Given the description of an element on the screen output the (x, y) to click on. 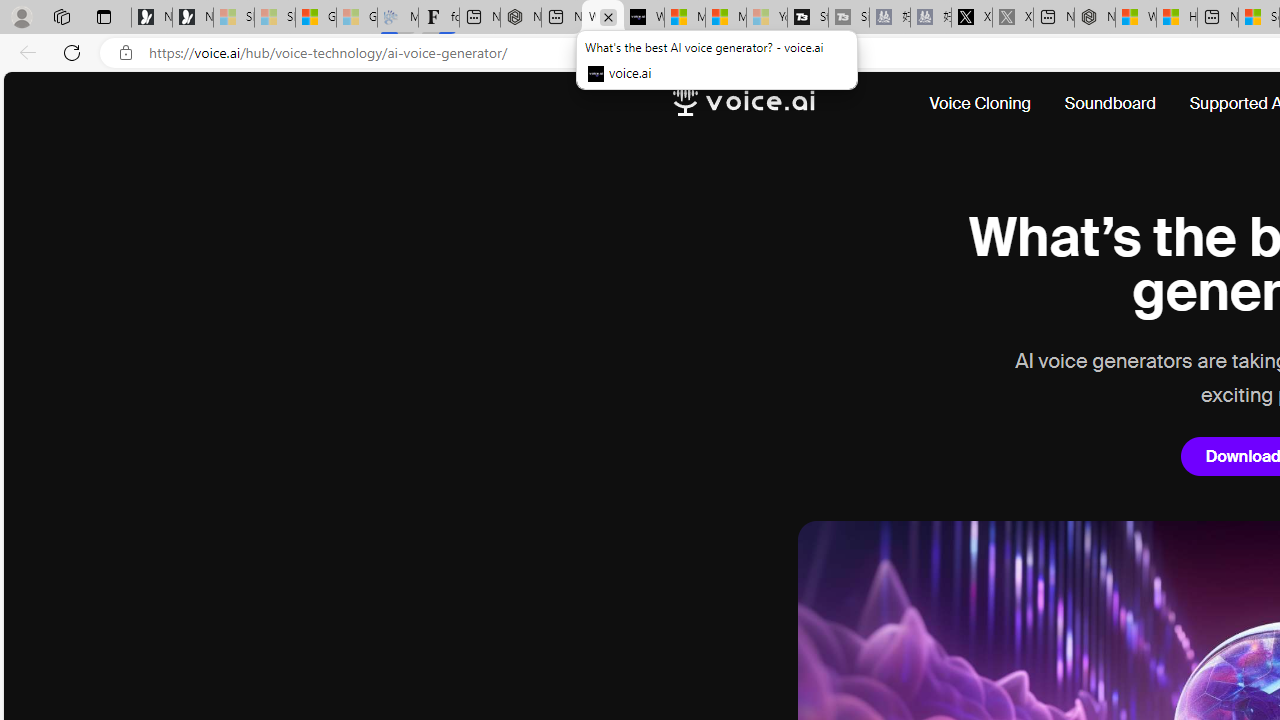
Soundboard (1110, 103)
Voice Cloning (980, 103)
Nordace - My Account (1094, 17)
Voice Cloning (988, 103)
